Given the description of an element on the screen output the (x, y) to click on. 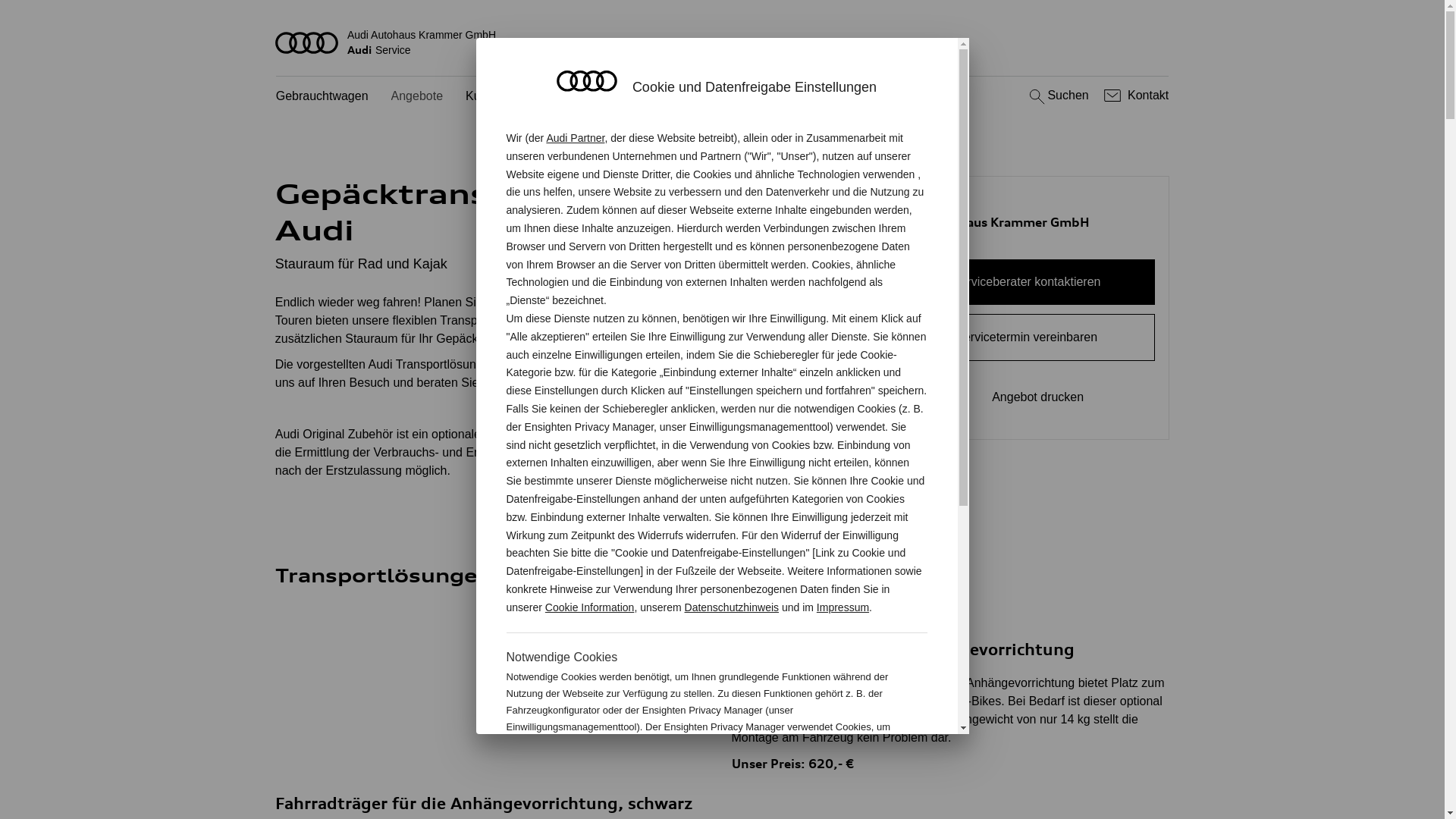
Servicetermin vereinbaren Element type: text (1025, 336)
Angebot drucken Element type: text (1026, 397)
Angebote Element type: text (417, 96)
Impressum Element type: text (842, 607)
Cookie Information Element type: text (589, 607)
Suchen Element type: text (1056, 95)
Kontakt Element type: text (1134, 95)
Gebrauchtwagen Element type: text (322, 96)
Audi Partner Element type: text (575, 137)
Datenschutzhinweis Element type: text (731, 607)
Cookie Information Element type: text (847, 776)
Kundenservice Element type: text (505, 96)
Audi Autohaus Krammer GmbH
AudiService Element type: text (722, 42)
Serviceberater kontaktieren Element type: text (1025, 281)
